Given the description of an element on the screen output the (x, y) to click on. 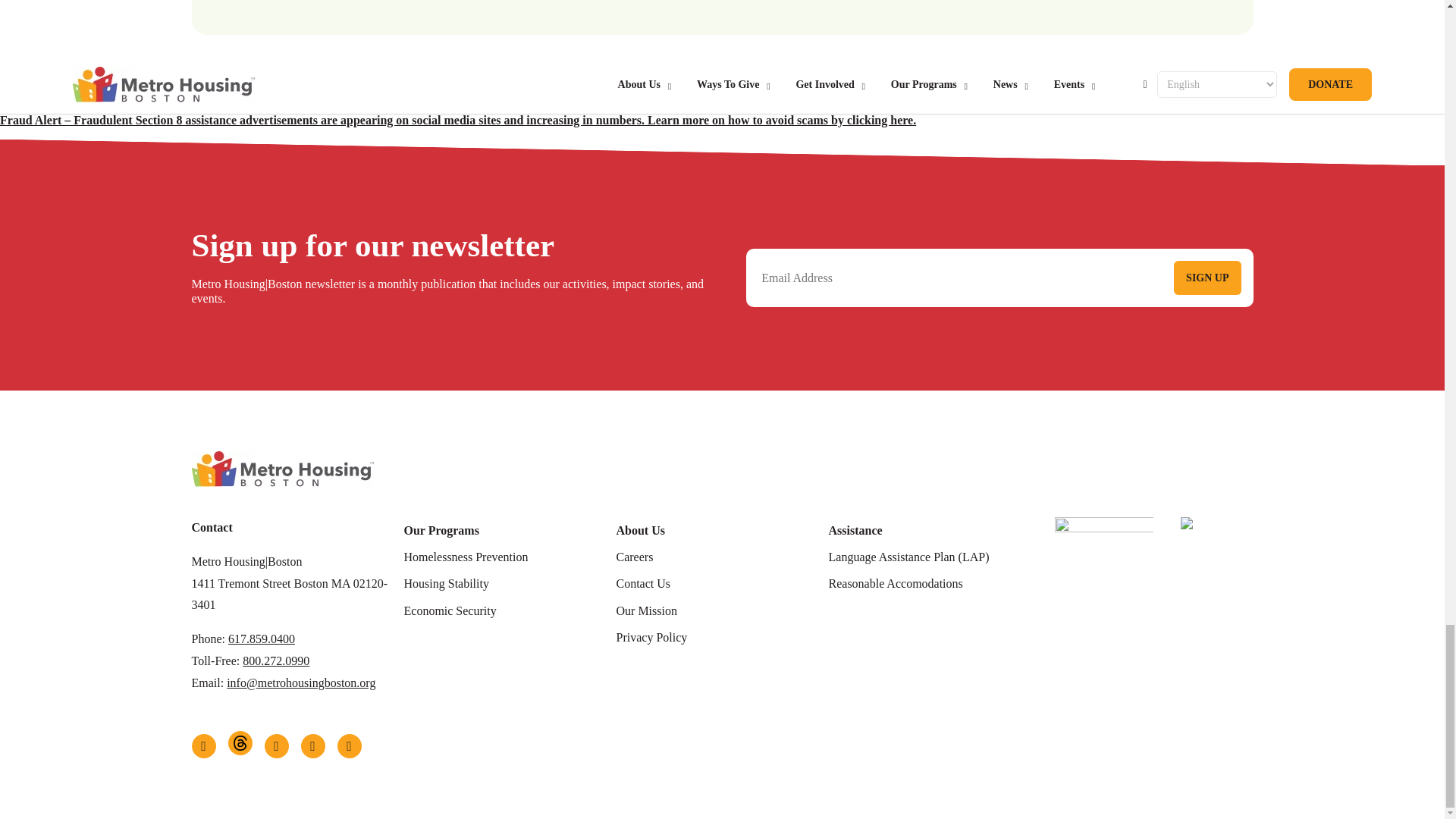
Sign Up (1206, 277)
